Given the description of an element on the screen output the (x, y) to click on. 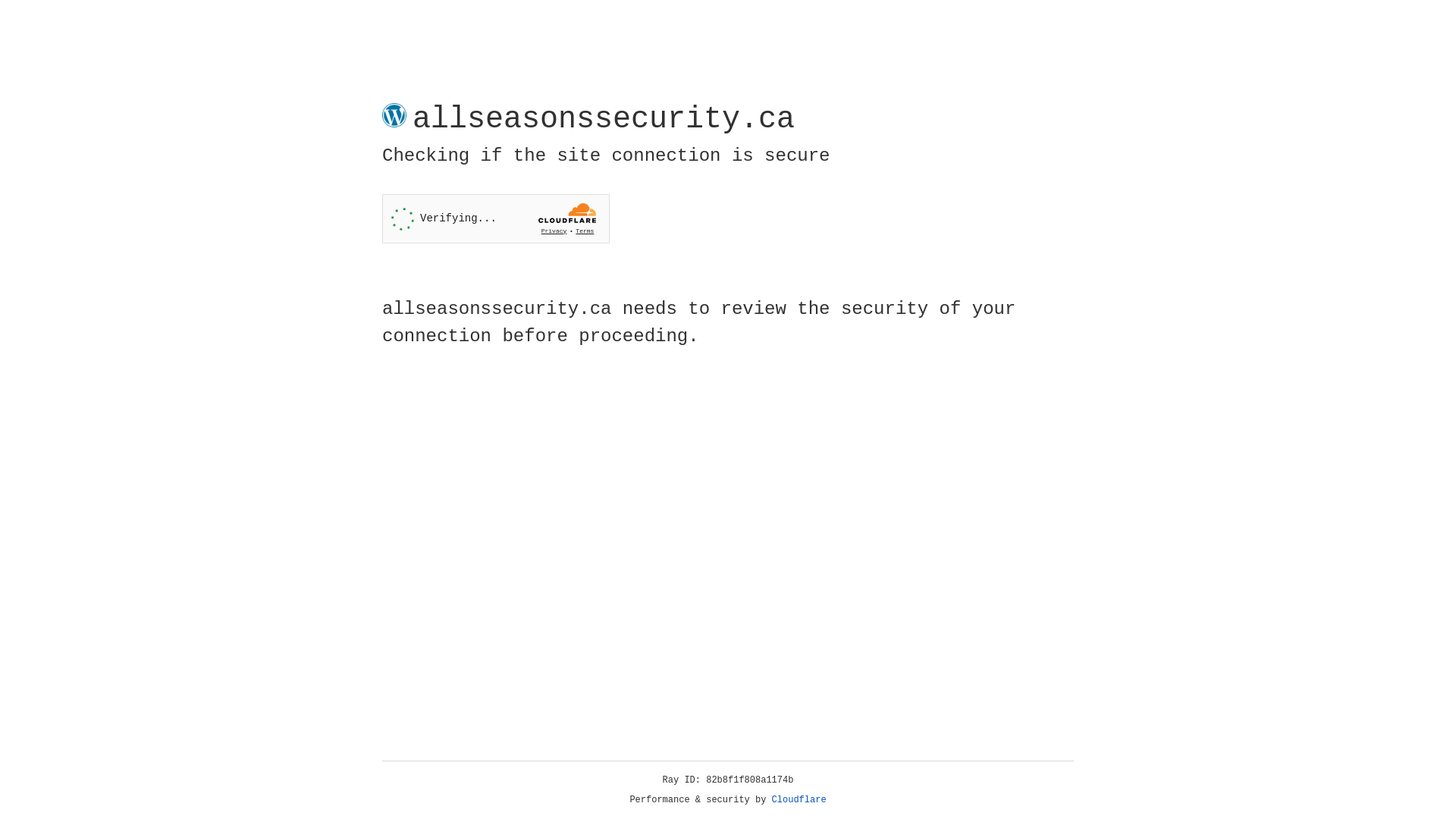
Widget containing a Cloudflare security challenge Element type: hover (495, 218)
Cloudflare Element type: text (798, 799)
